Given the description of an element on the screen output the (x, y) to click on. 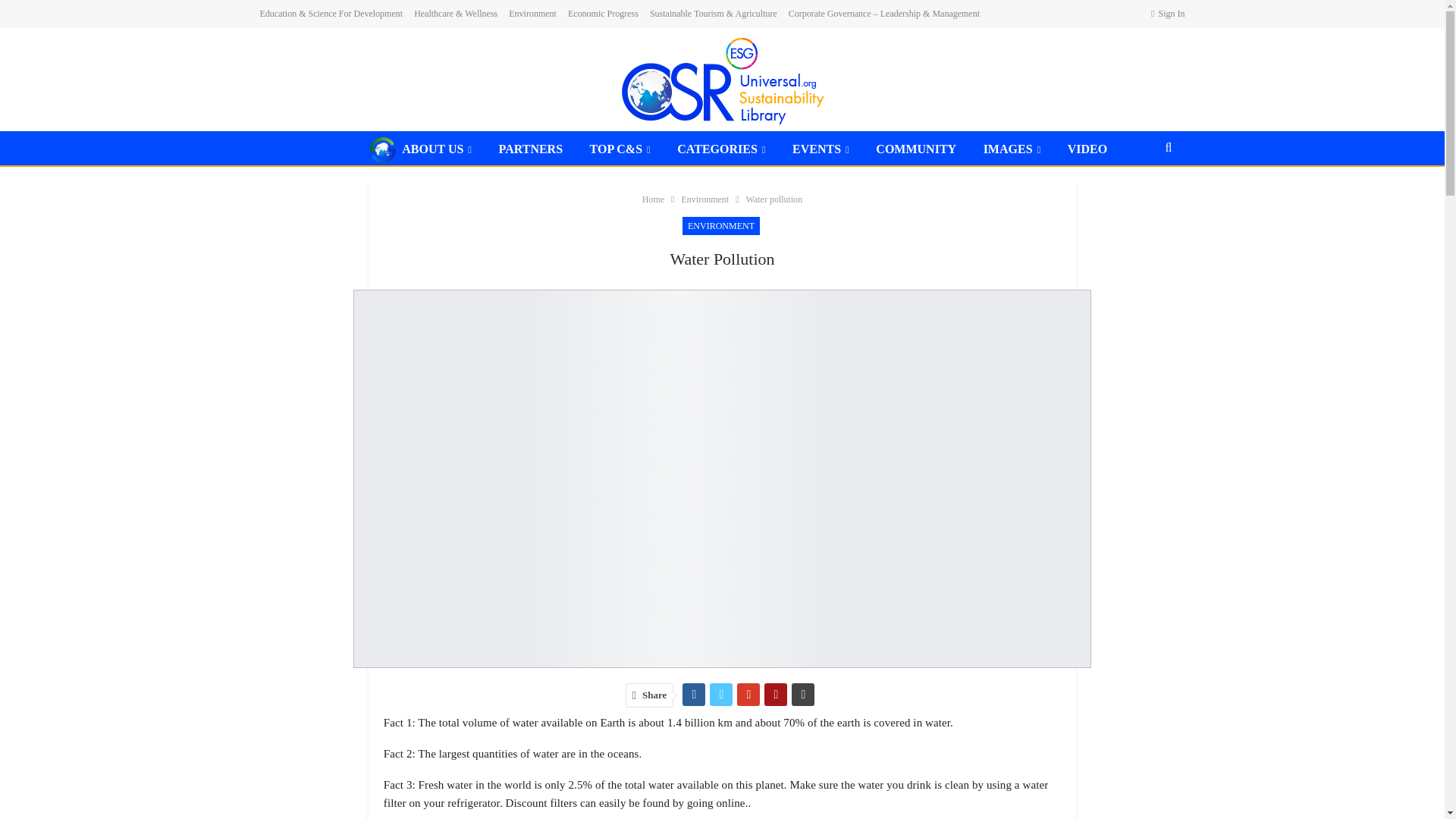
PARTNERS (530, 149)
Sign In (1168, 13)
COMMUNITY (915, 149)
Economic Progress (603, 13)
EVENTS (821, 149)
CATEGORIES (721, 149)
ABOUT US (419, 149)
Environment (532, 13)
